Given the description of an element on the screen output the (x, y) to click on. 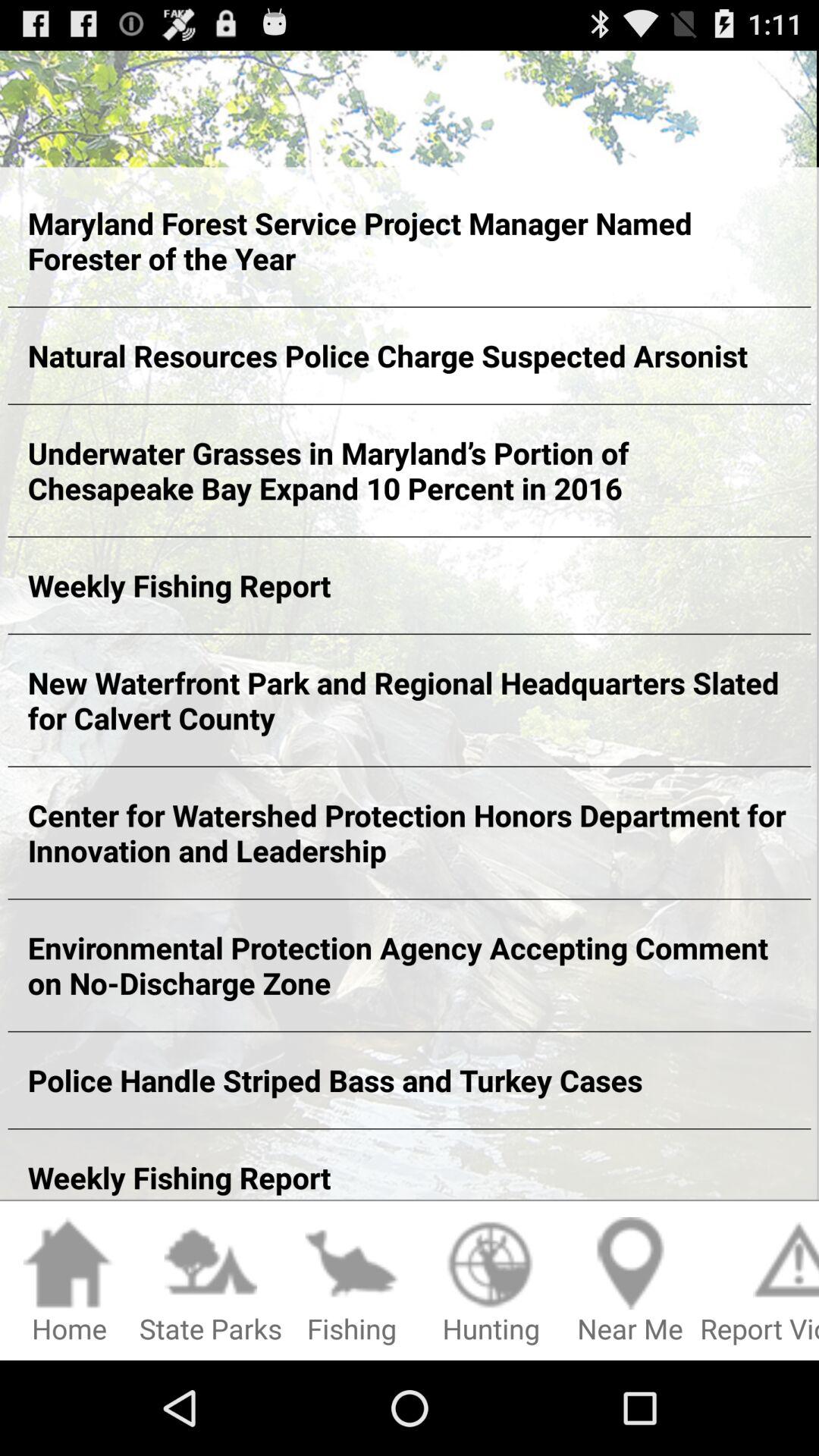
turn off icon below the environmental protection agency icon (409, 1080)
